Given the description of an element on the screen output the (x, y) to click on. 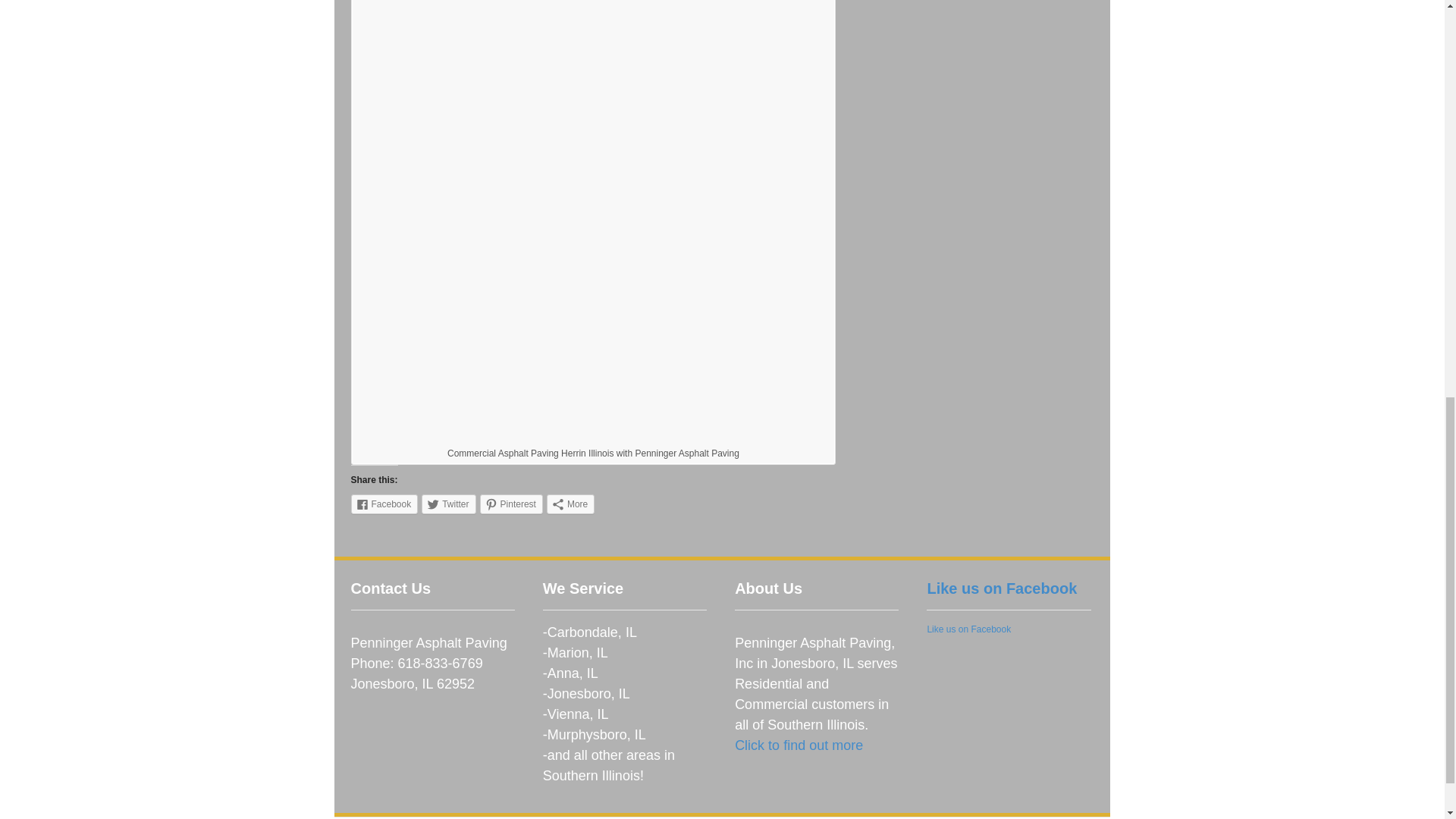
Like us on Facebook (1001, 588)
Click to find out more (799, 744)
Facebook (383, 504)
Like us on Facebook (968, 629)
Click to share on Pinterest (511, 504)
Click to share on Facebook (383, 504)
Pinterest (511, 504)
Twitter (449, 504)
Click to share on Twitter (449, 504)
More (570, 504)
